Given the description of an element on the screen output the (x, y) to click on. 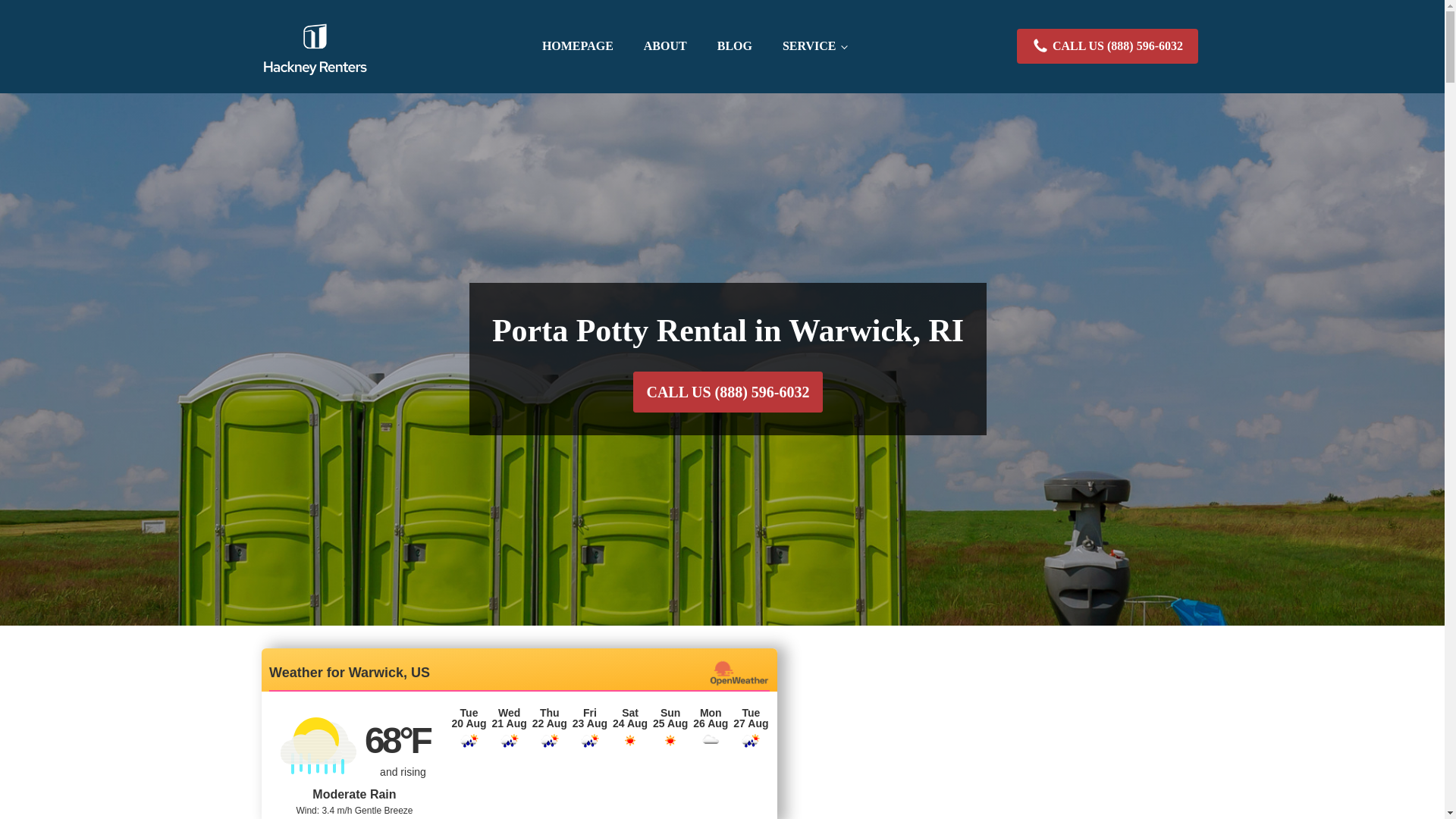
HOMEPAGE (577, 46)
ABOUT (664, 46)
SERVICE (814, 46)
BLOG (734, 46)
